Given the description of an element on the screen output the (x, y) to click on. 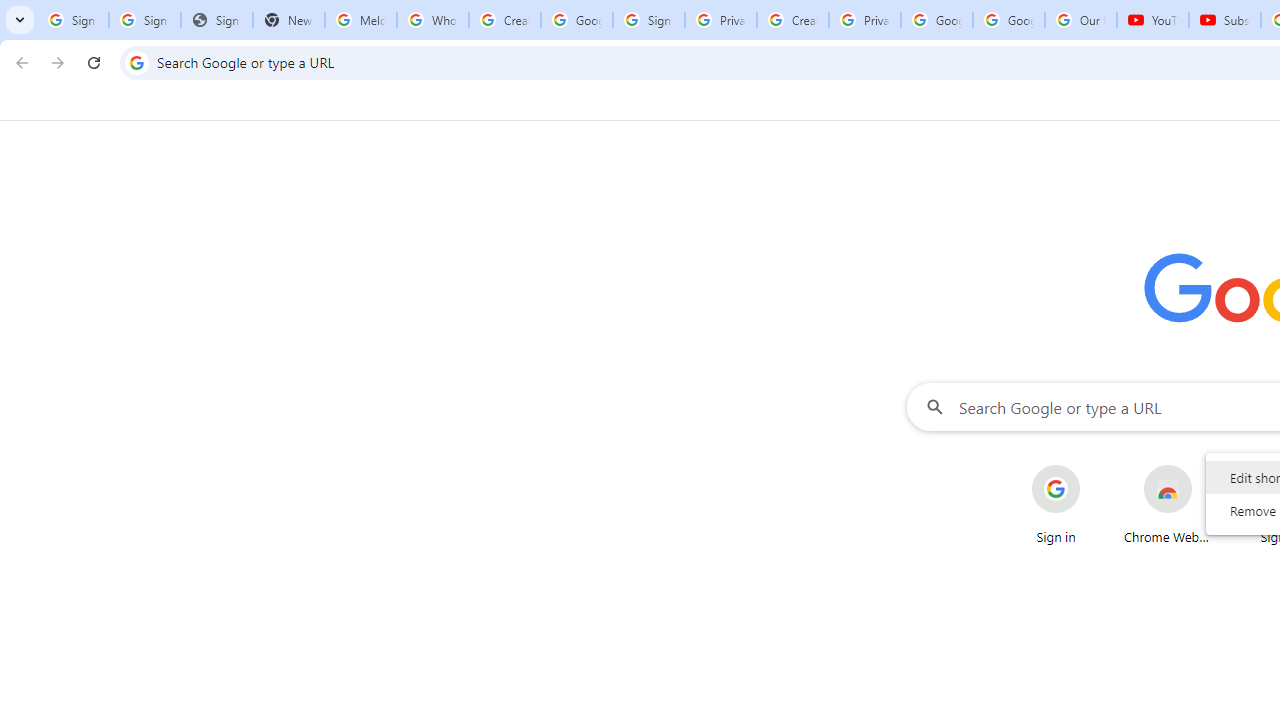
New Tab (289, 20)
Create your Google Account (792, 20)
